Given the description of an element on the screen output the (x, y) to click on. 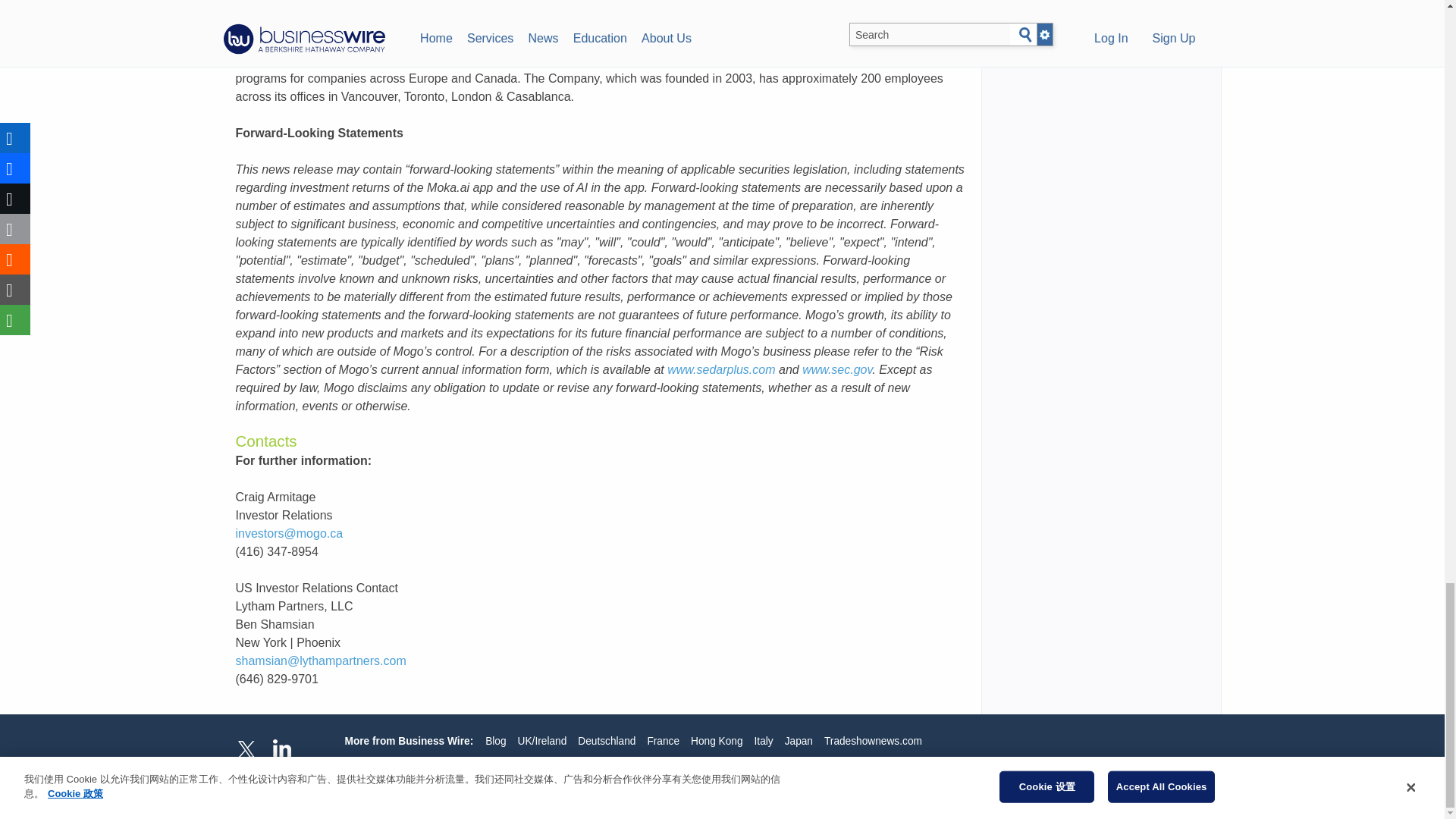
www.sec.gov (837, 369)
Carta Worldwide (470, 60)
Moka (640, 23)
Mogotrade (315, 6)
www.sedarplus.com (720, 369)
